Given the description of an element on the screen output the (x, y) to click on. 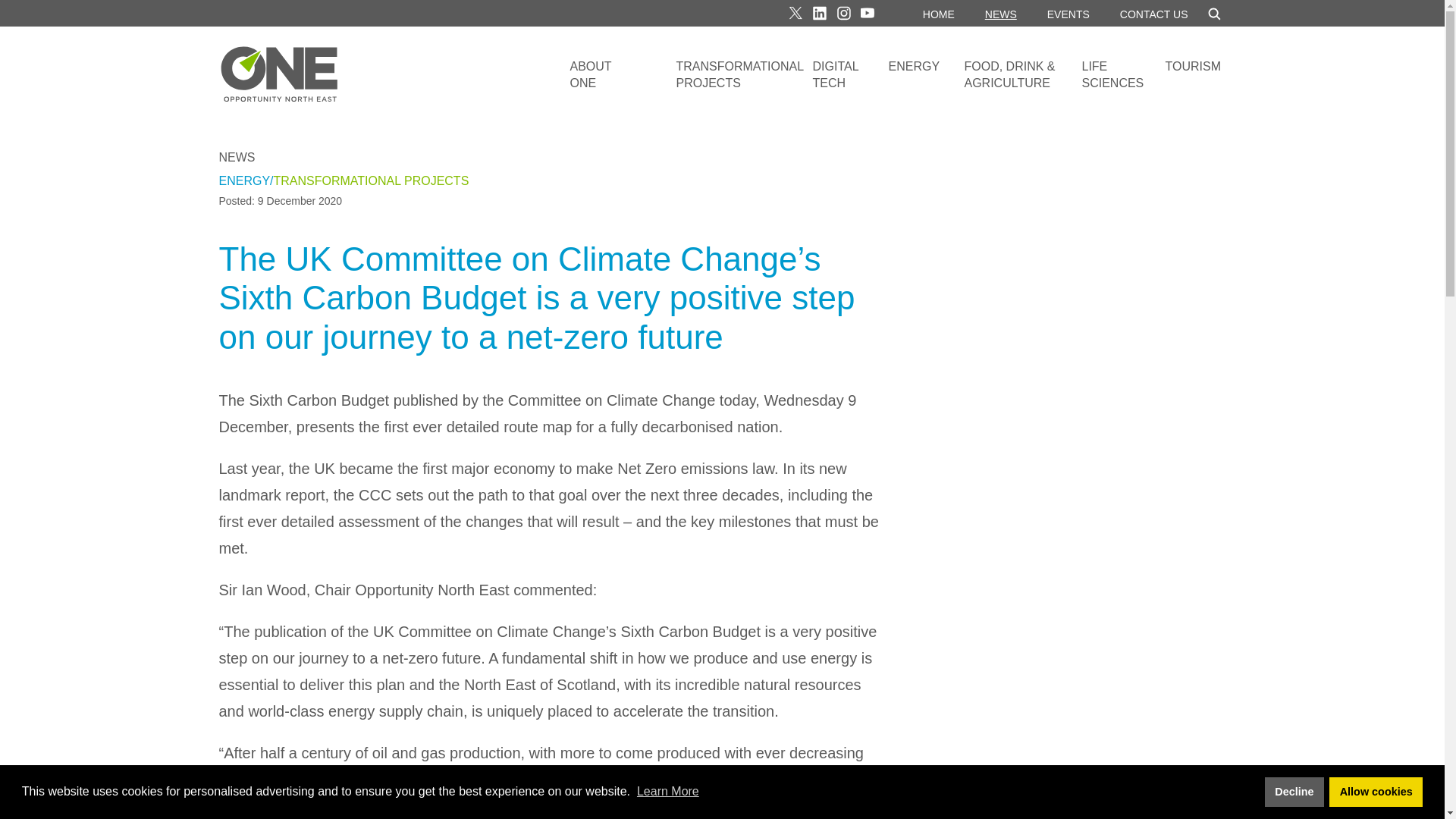
Allow cookies (1375, 791)
EVENTS (1067, 14)
CONTACT US (1153, 14)
Search this site (1206, 13)
TRANSFORMATIONAL PROJECTS (739, 83)
HOME (939, 14)
Decline (1294, 791)
Learn More (667, 790)
NEWS (1000, 14)
